Given the description of an element on the screen output the (x, y) to click on. 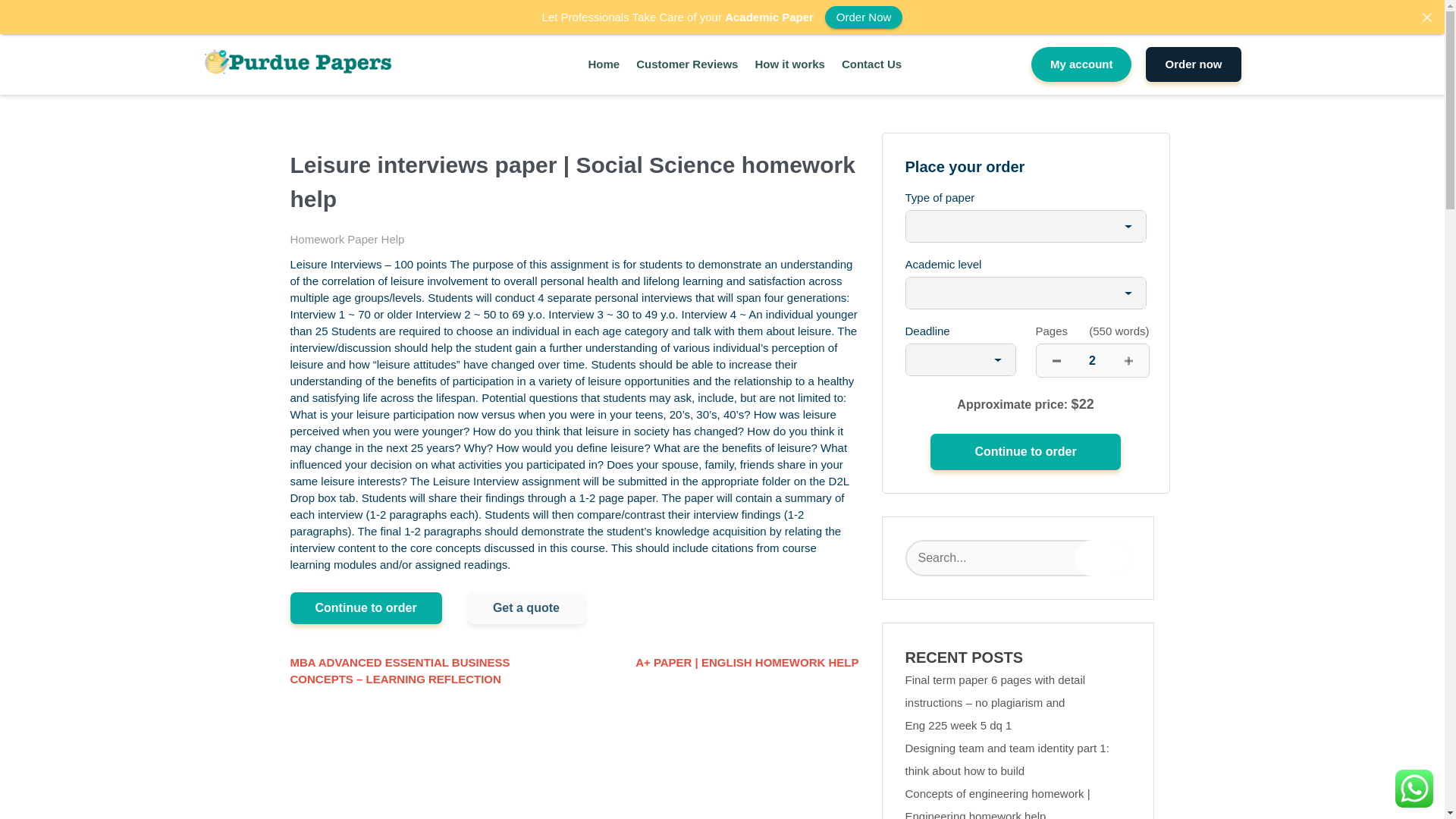
Contact Us (871, 64)
Home (604, 64)
Get a quote (526, 608)
How it works (789, 64)
Homework Paper Help (346, 238)
Continue to order (1024, 452)
Customer Reviews (687, 64)
Continue to order (1024, 452)
Close (1426, 17)
Search (1102, 557)
Continue to order (365, 608)
2 (1091, 359)
Search (1102, 557)
My account (1081, 63)
